Given the description of an element on the screen output the (x, y) to click on. 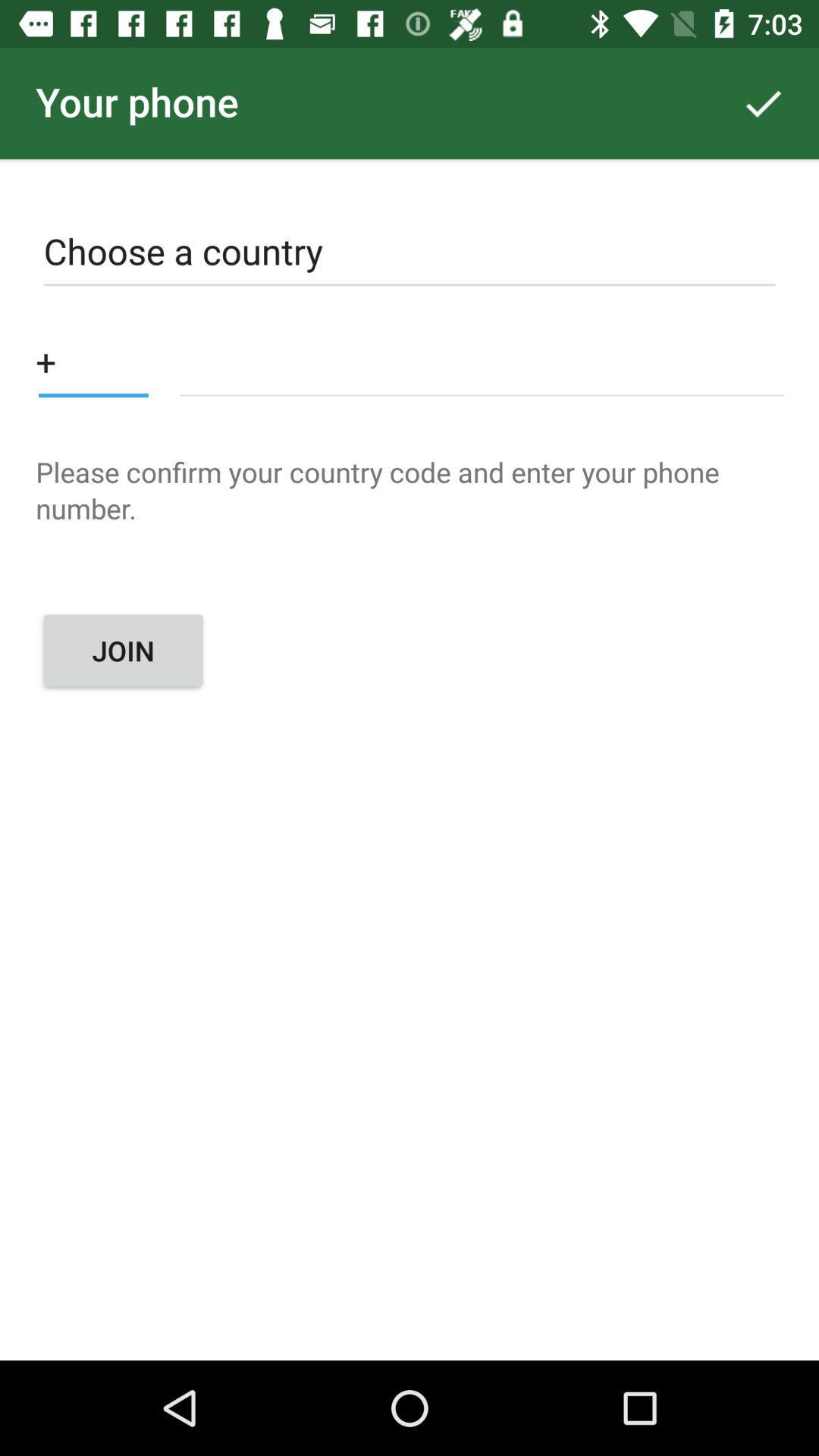
input phone number (481, 361)
